Given the description of an element on the screen output the (x, y) to click on. 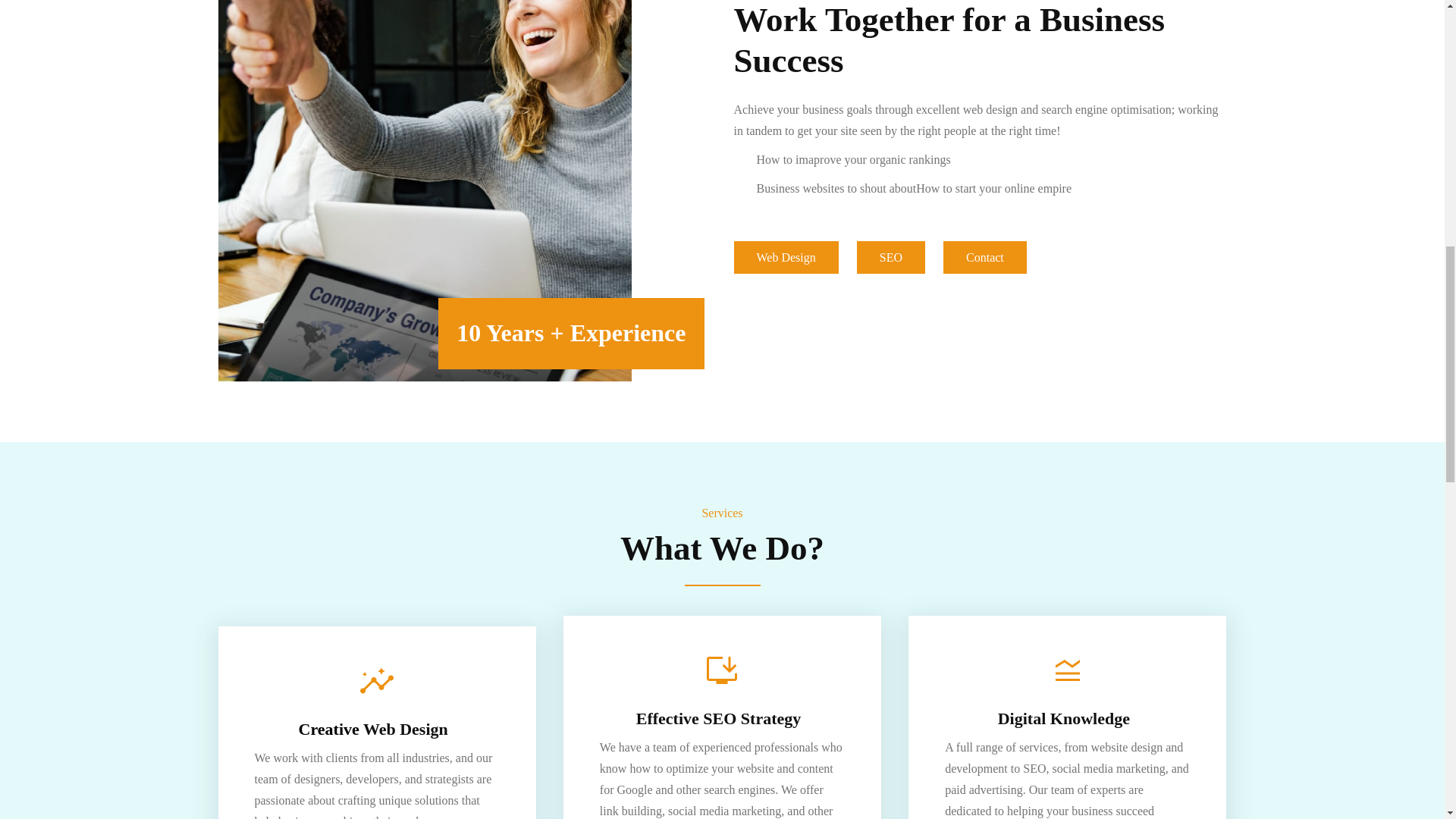
SEO (890, 256)
Web Design (785, 256)
Creative (330, 728)
Contact (984, 256)
